Given the description of an element on the screen output the (x, y) to click on. 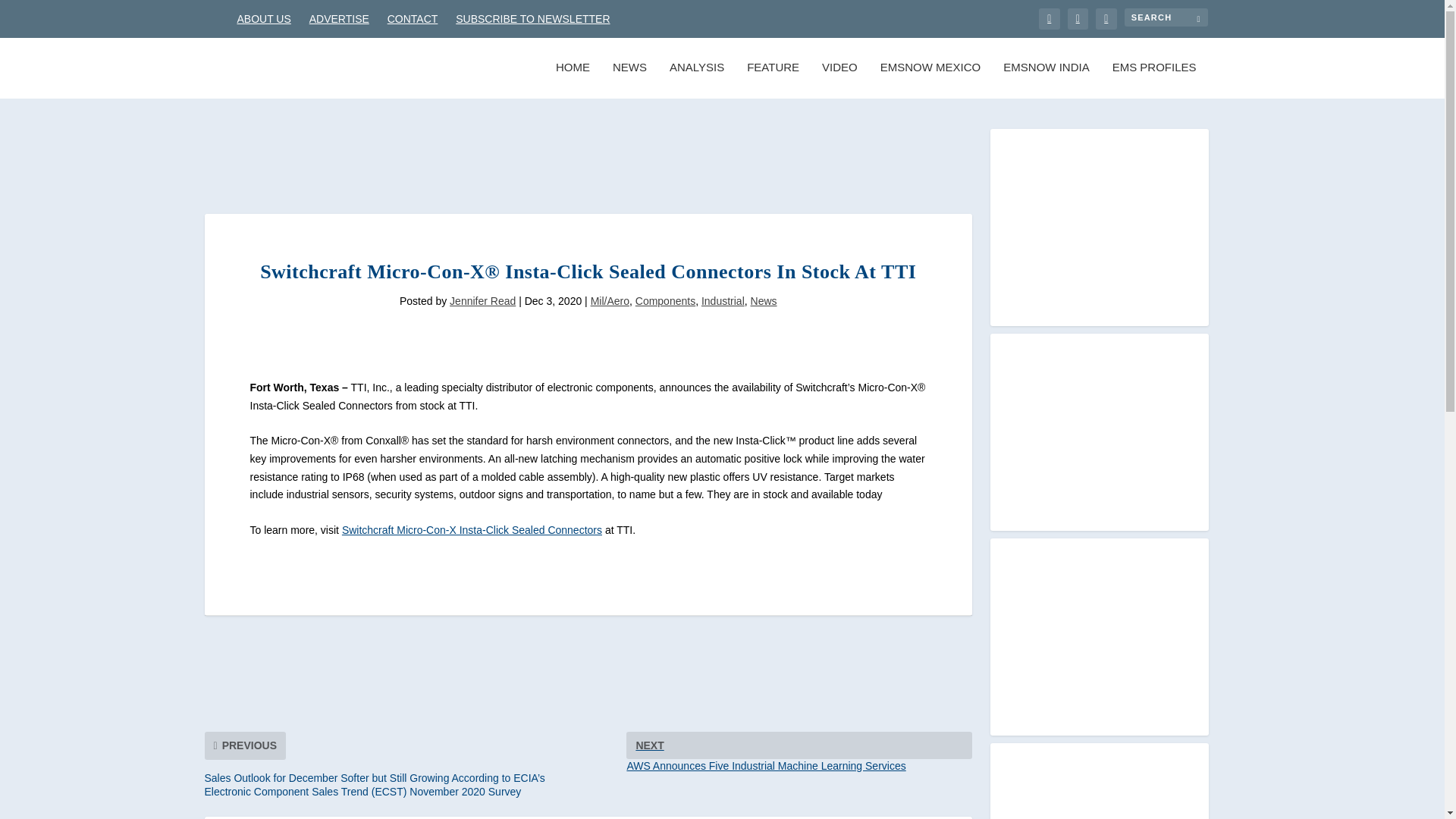
ANALYSIS (696, 79)
Components (664, 300)
Jennifer Read (482, 300)
FEATURE (772, 79)
SUBSCRIBE TO NEWSLETTER (532, 18)
Posts by Jennifer Read (482, 300)
HOME (799, 752)
CONTACT (572, 79)
ABOUT US (412, 18)
Switchcraft Micro-Con-X Insta-Click Sealed Connectors (262, 18)
EMSNOW MEXICO (472, 530)
Switchcraft Micro-Con-X Insta-Click Sealed Connectors (930, 79)
Industrial (472, 530)
Search for: (722, 300)
